Given the description of an element on the screen output the (x, y) to click on. 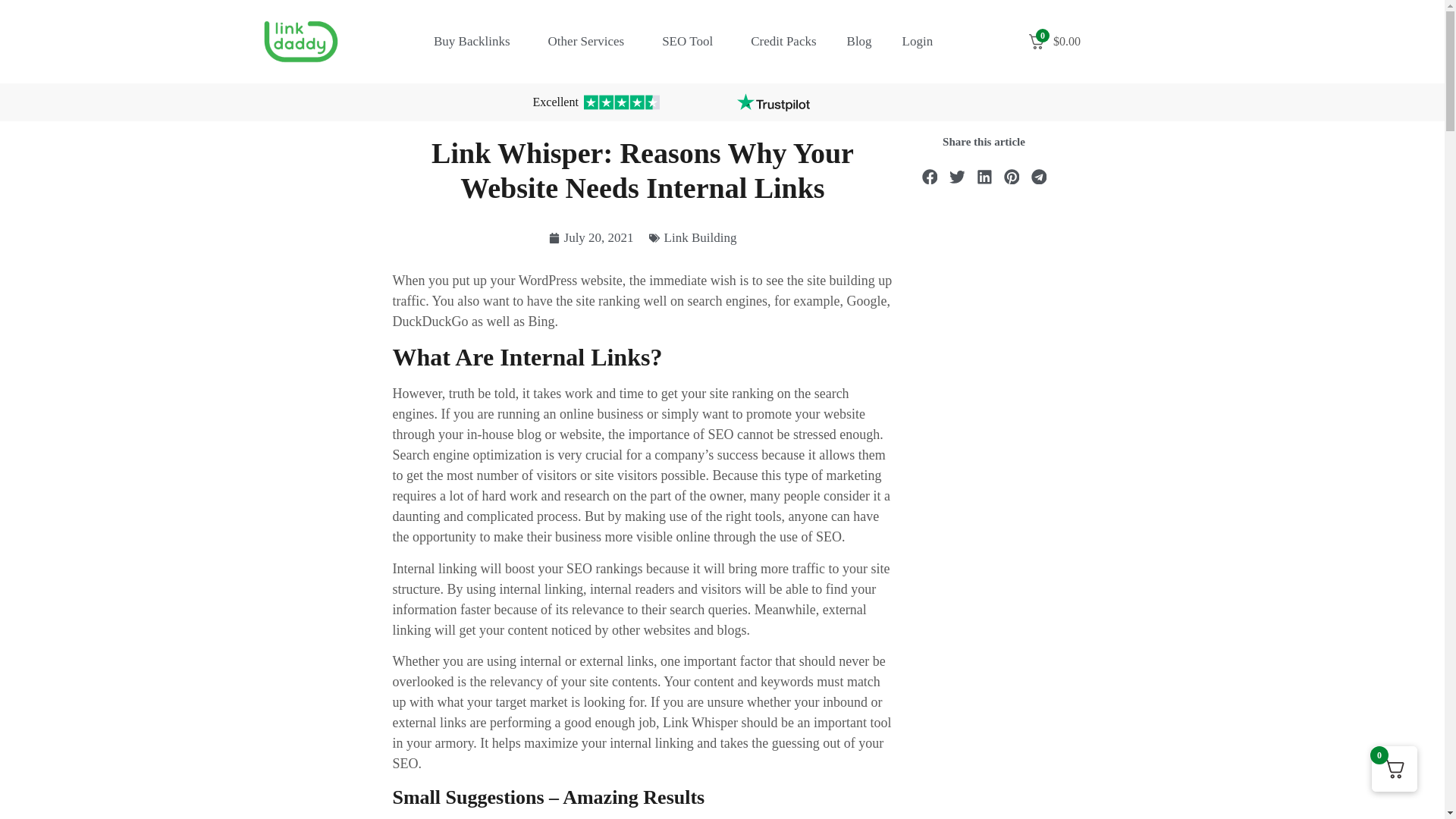
Buy Backlinks (475, 41)
Customer reviews powered by Trustpilot (772, 102)
Blog (858, 41)
Login (917, 41)
Credit Packs (783, 41)
Other Services (589, 41)
SEO Tool (690, 41)
